Given the description of an element on the screen output the (x, y) to click on. 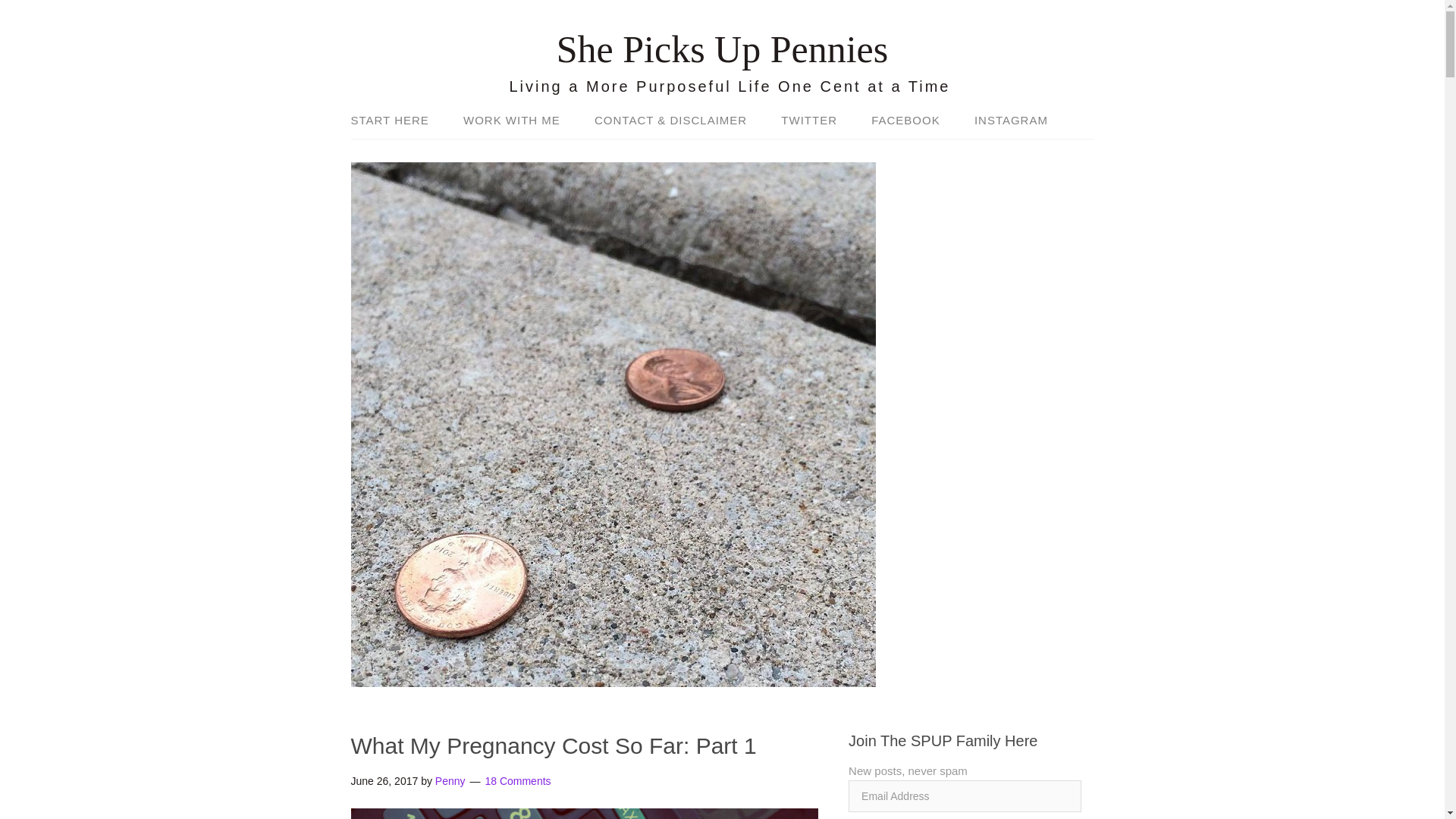
Monday, June 26, 2017, 6:00 am (383, 780)
WORK WITH ME (511, 120)
She Picks Up Pennies (722, 48)
18 Comments (517, 780)
She Picks Up Pennies (722, 48)
INSTAGRAM (1003, 120)
START HERE (397, 120)
Penny (450, 780)
Posts by Penny (450, 780)
TWITTER (808, 120)
